Given the description of an element on the screen output the (x, y) to click on. 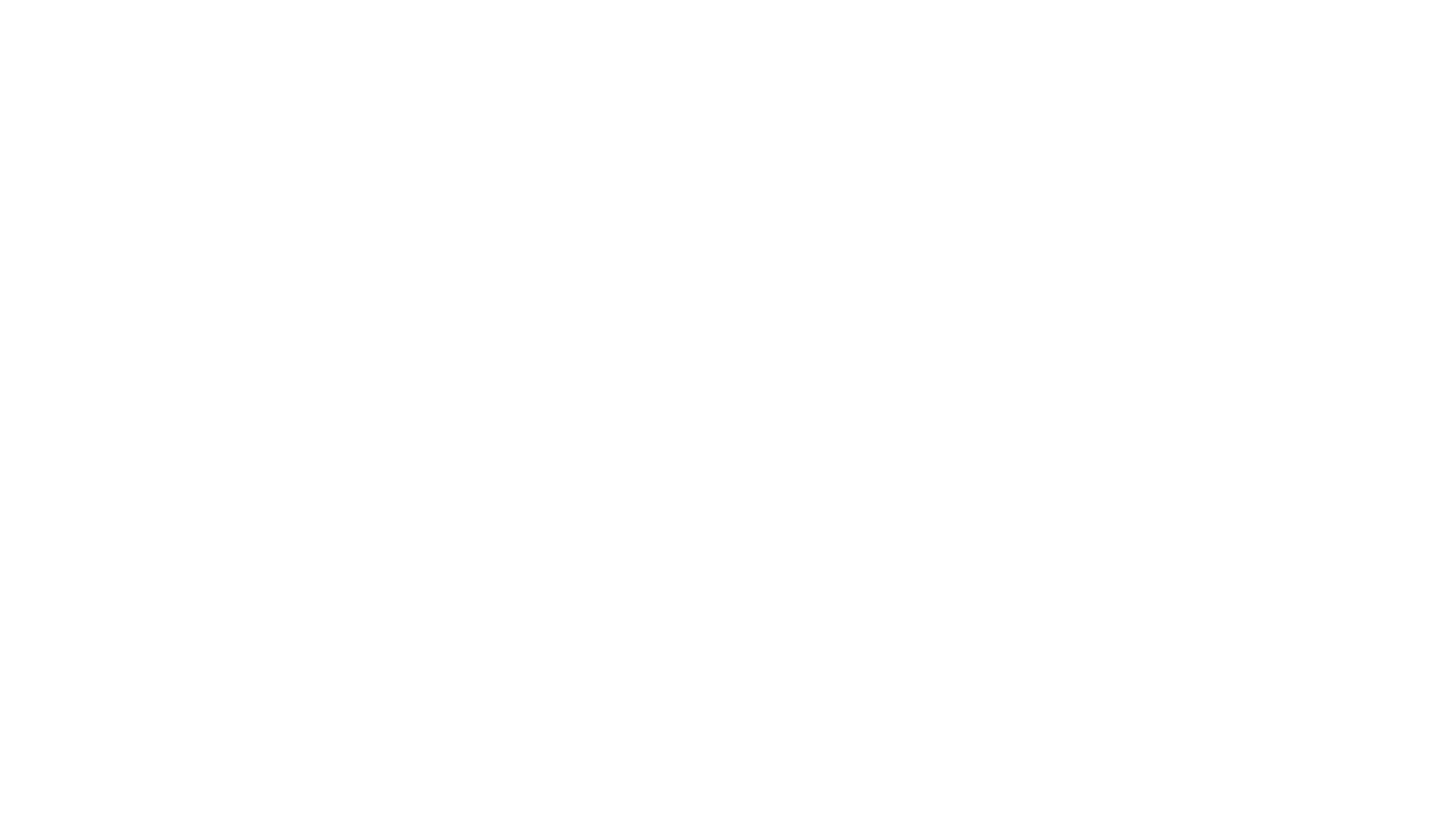
Digilanes Element type: text (831, 750)
info@3jshairspa.com Element type: text (382, 27)
PRICING Element type: text (1291, 29)
Log in Element type: text (406, 419)
Facebook Element type: text (726, 705)
Lost your password? Element type: text (426, 448)
HOME Element type: text (1013, 29)
CONTACT US Element type: text (1370, 29)
ABOUT Element type: text (1071, 29)
3Js HAIR SPA Element type: text (727, 621)
Facebook Element type: hover (509, 27)
SHOP NOW Element type: text (1143, 29)
SERVICES Element type: text (1221, 29)
